Given the description of an element on the screen output the (x, y) to click on. 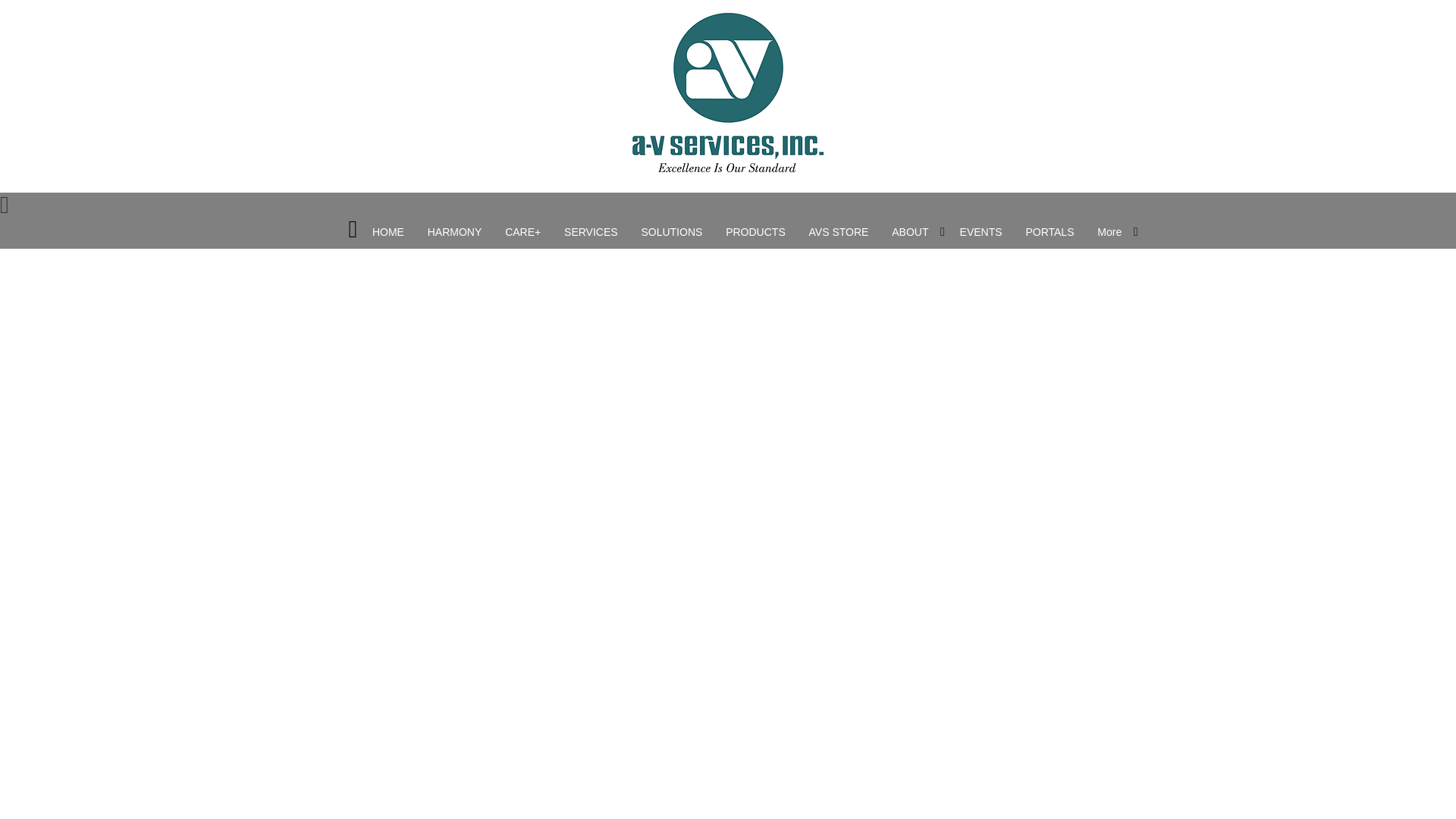
AVS STORE (838, 232)
SERVICES (591, 232)
HARMONY (454, 232)
More (1109, 232)
HOME (388, 232)
PRODUCTS (755, 232)
EVENTS (981, 232)
ABOUT (909, 232)
SOLUTIONS (670, 232)
PORTALS (1048, 232)
